Given the description of an element on the screen output the (x, y) to click on. 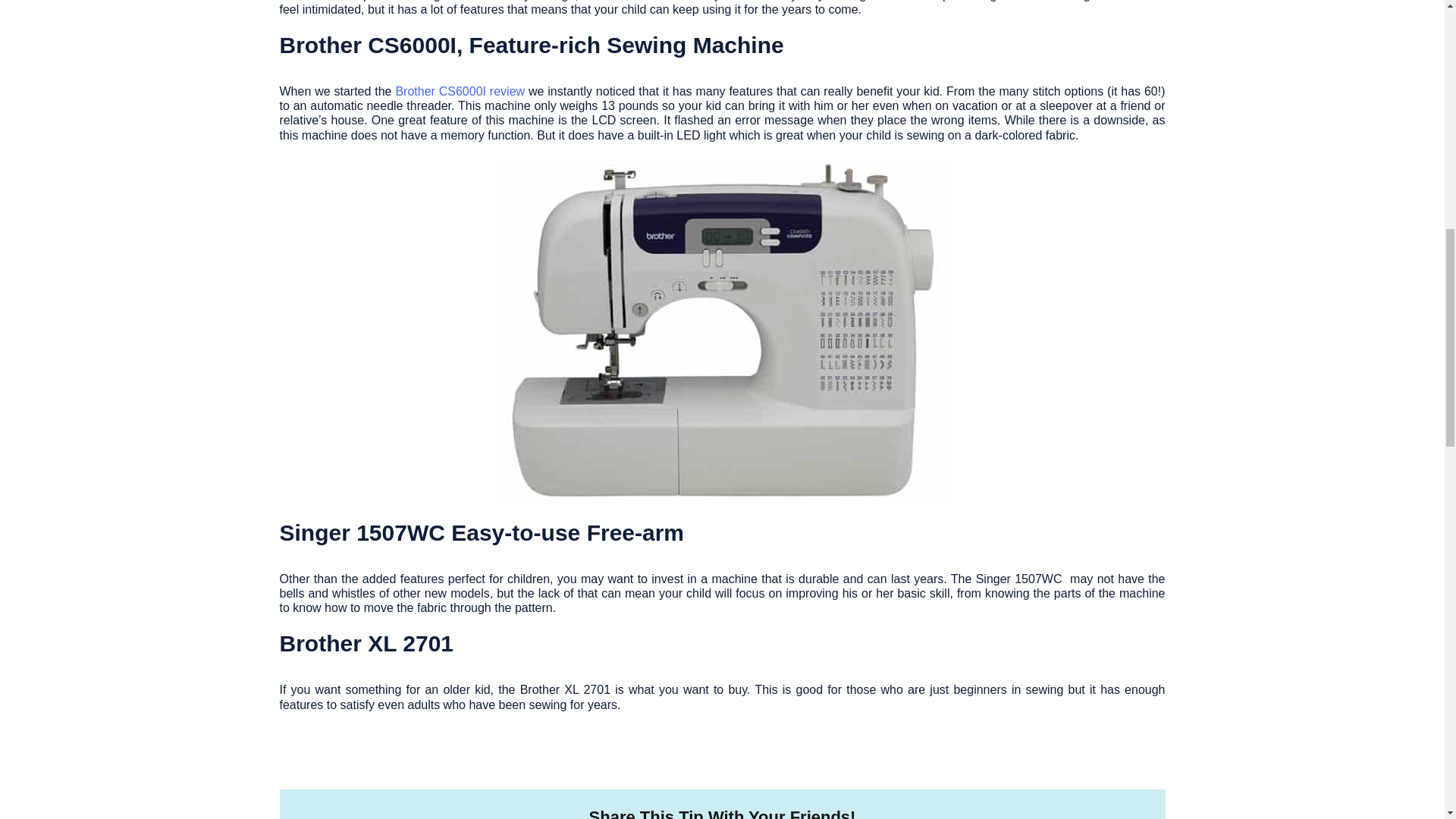
Brother CS6000I review (459, 91)
